Given the description of an element on the screen output the (x, y) to click on. 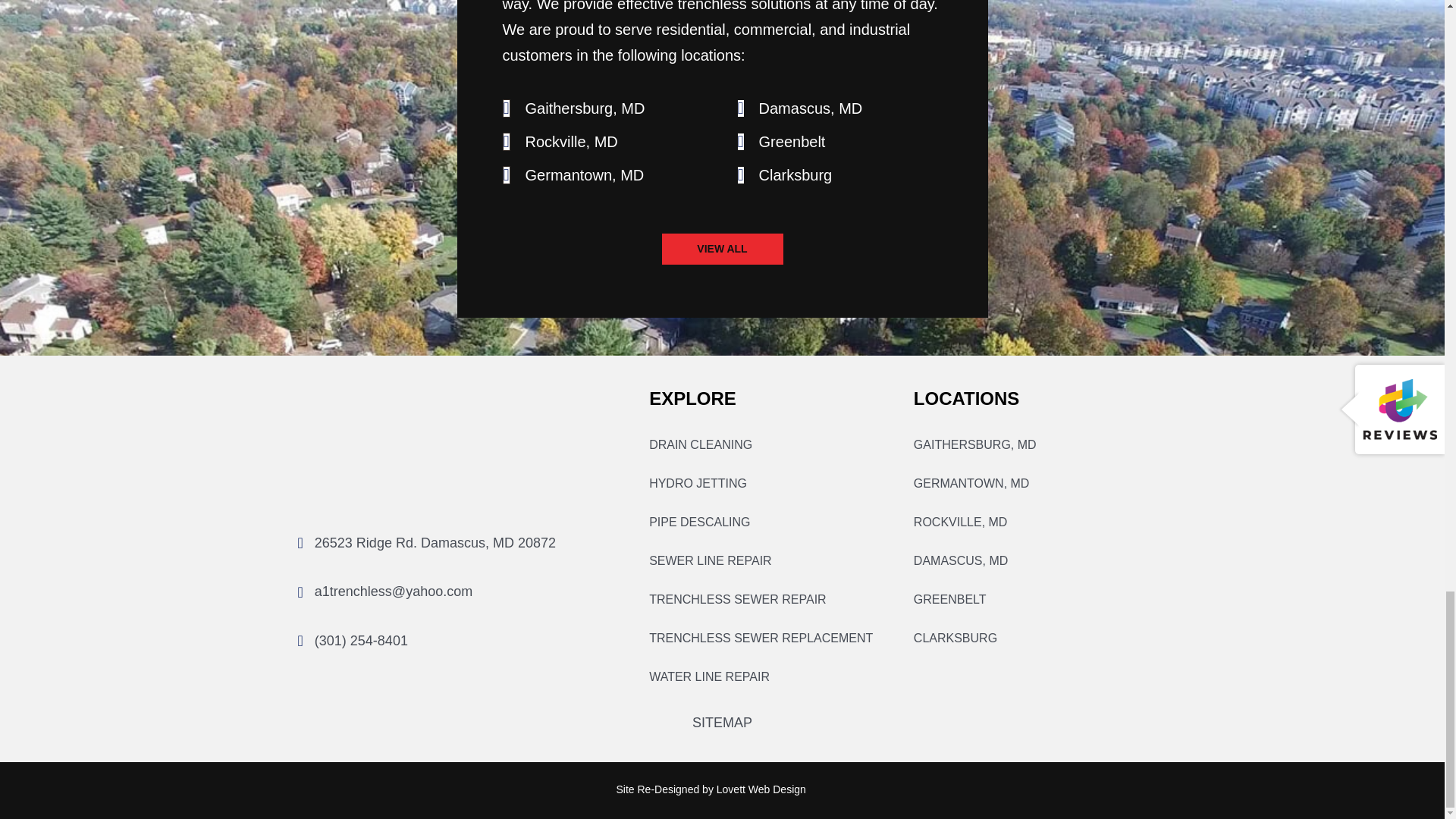
a1-logo (353, 442)
